Given the description of an element on the screen output the (x, y) to click on. 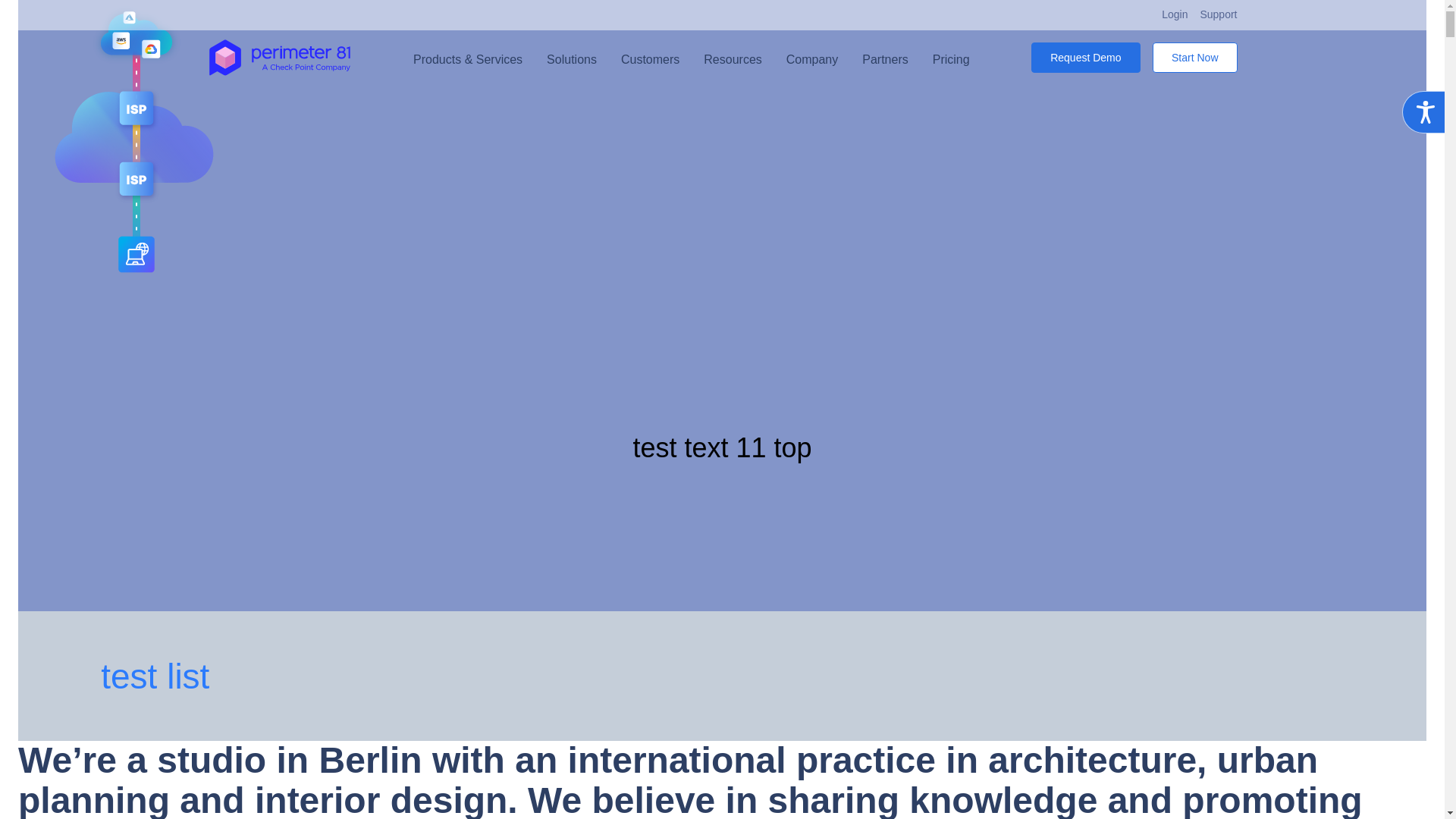
Login (1174, 15)
Accessibility Helper sidebar (1423, 111)
Solutions (571, 57)
Support (1217, 15)
